Given the description of an element on the screen output the (x, y) to click on. 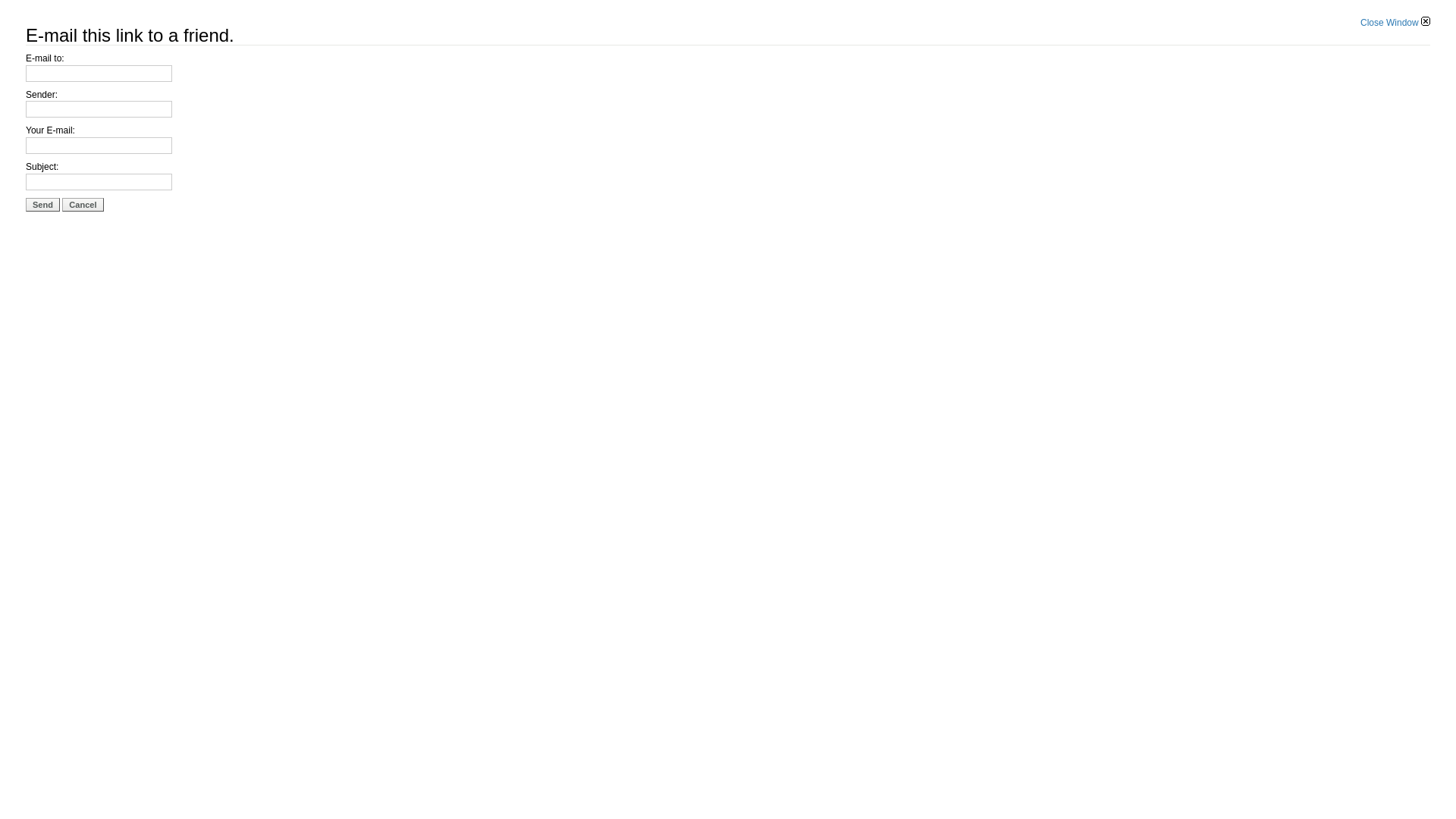
Close Window Element type: text (1395, 22)
Send Element type: text (42, 204)
Cancel Element type: text (82, 204)
